Given the description of an element on the screen output the (x, y) to click on. 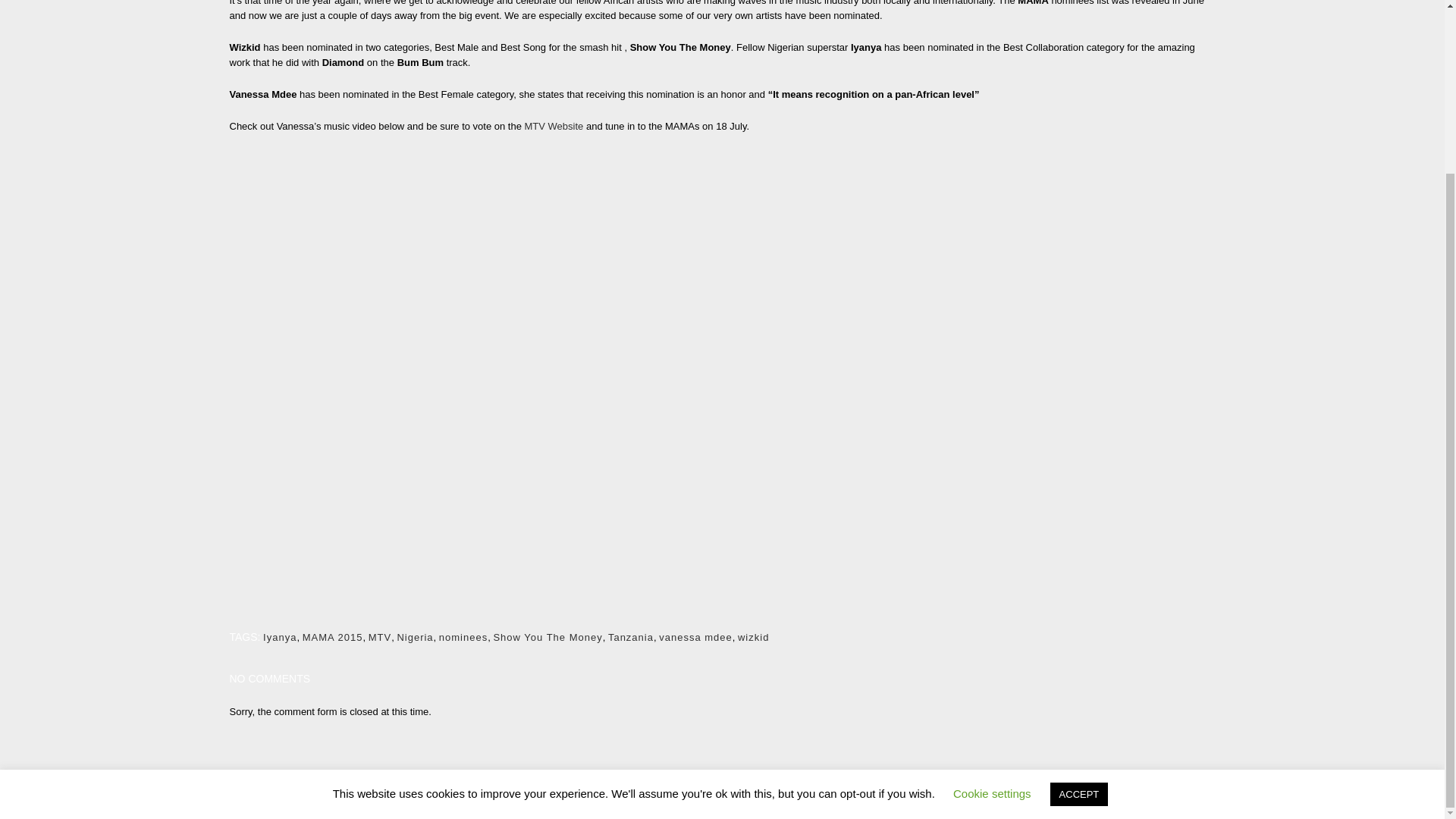
vanessa mdee (695, 636)
ACCEPT (1078, 585)
Nigeria (414, 636)
nominees (463, 636)
Show You The Money (547, 636)
MTV (379, 636)
Cookie settings (991, 584)
Tanzania (630, 636)
MAMA 2015 (332, 636)
MTV Website (553, 125)
Iyanya (280, 636)
wizkid (753, 636)
